Given the description of an element on the screen output the (x, y) to click on. 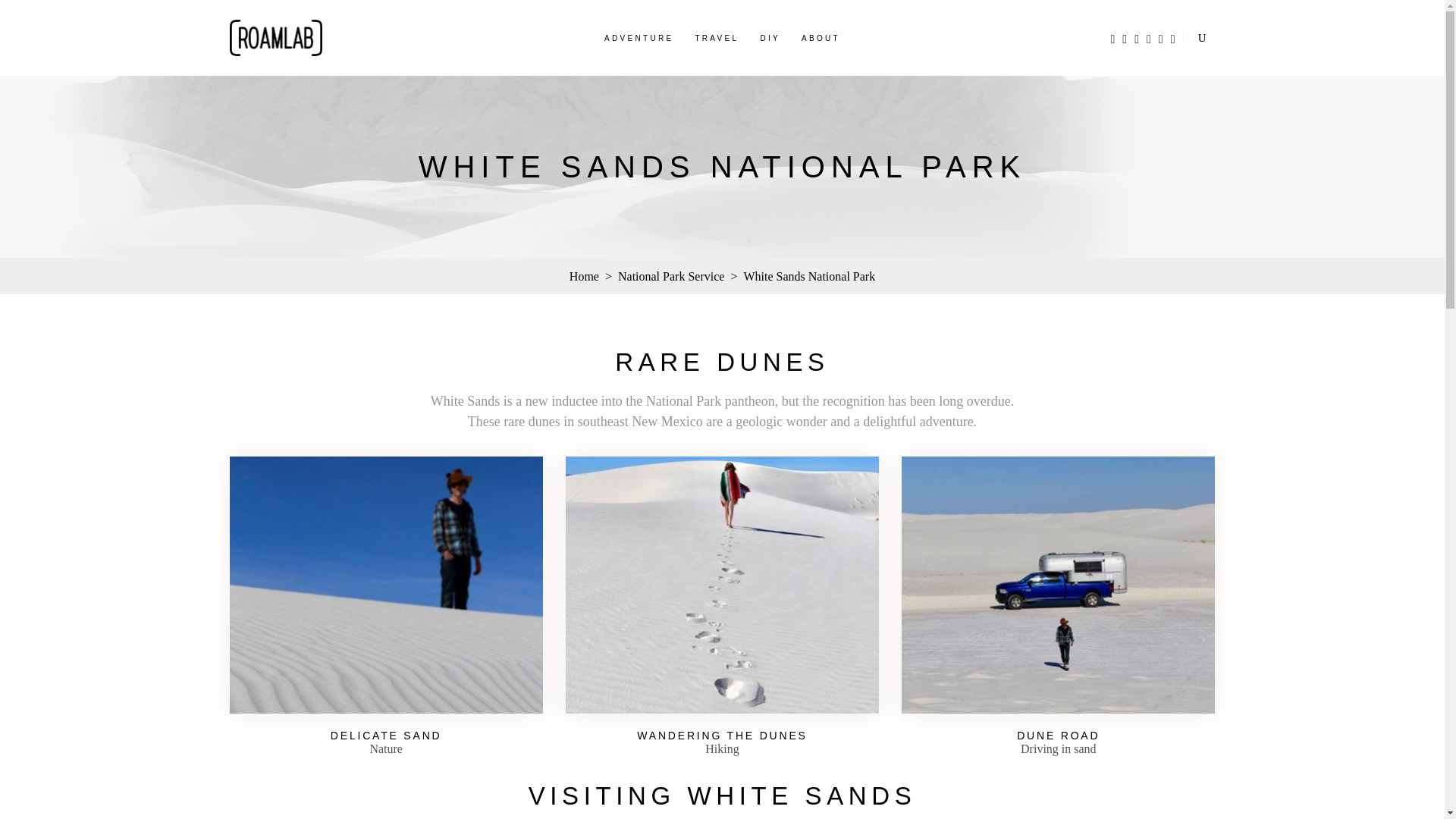
About Us (820, 36)
ADVENTURE (639, 36)
Do It Yourself (769, 36)
TRAVEL (716, 36)
